Given the description of an element on the screen output the (x, y) to click on. 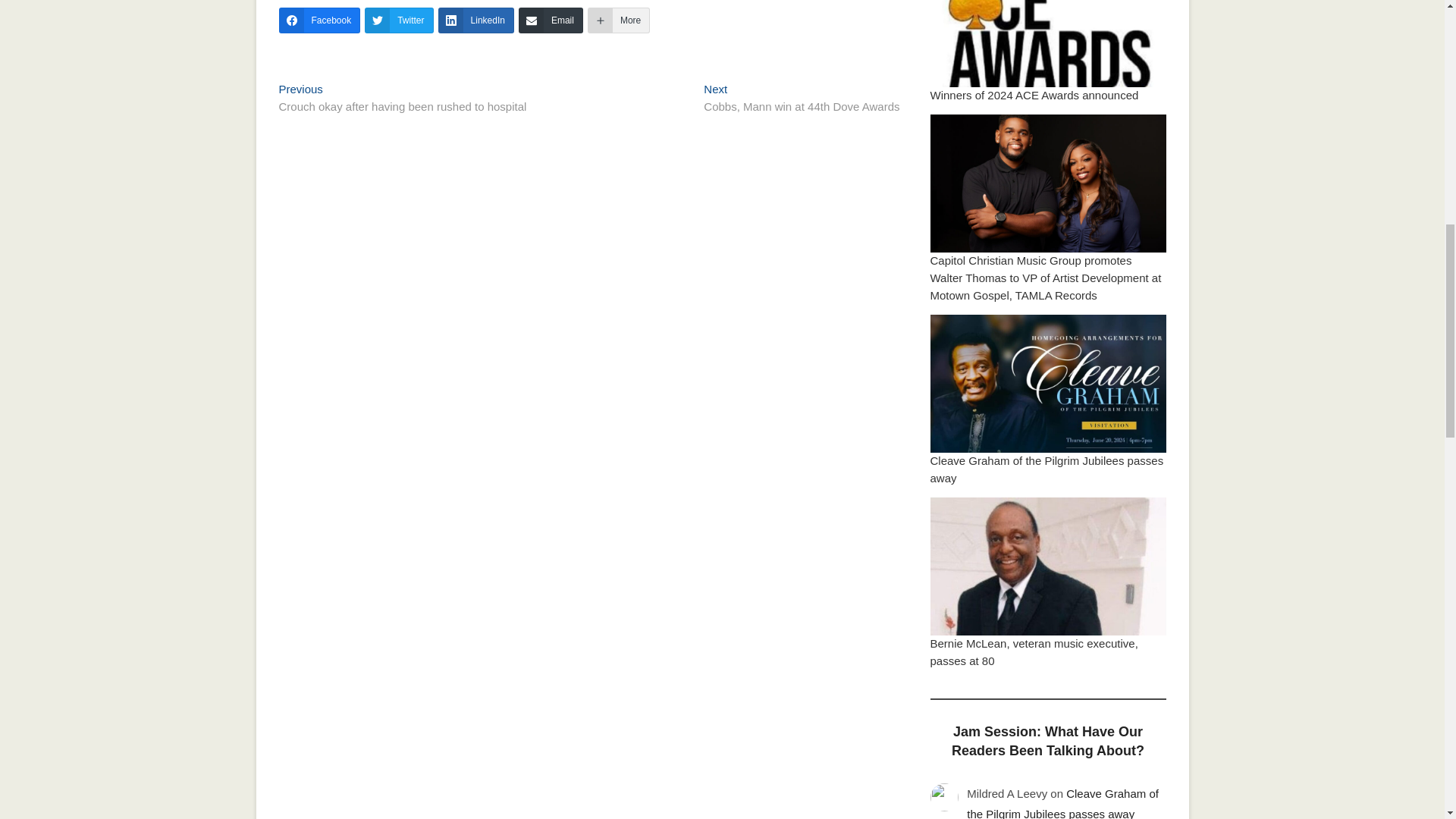
Cleave Graham of the Pilgrim Jubilees passes away (1046, 469)
Twitter (398, 20)
Email (550, 20)
More (618, 20)
Bernie McLean, veteran music executive, passes at 80 (1033, 652)
LinkedIn (801, 99)
Winners of 2024 ACE Awards announced (475, 20)
Facebook (1034, 94)
